Given the description of an element on the screen output the (x, y) to click on. 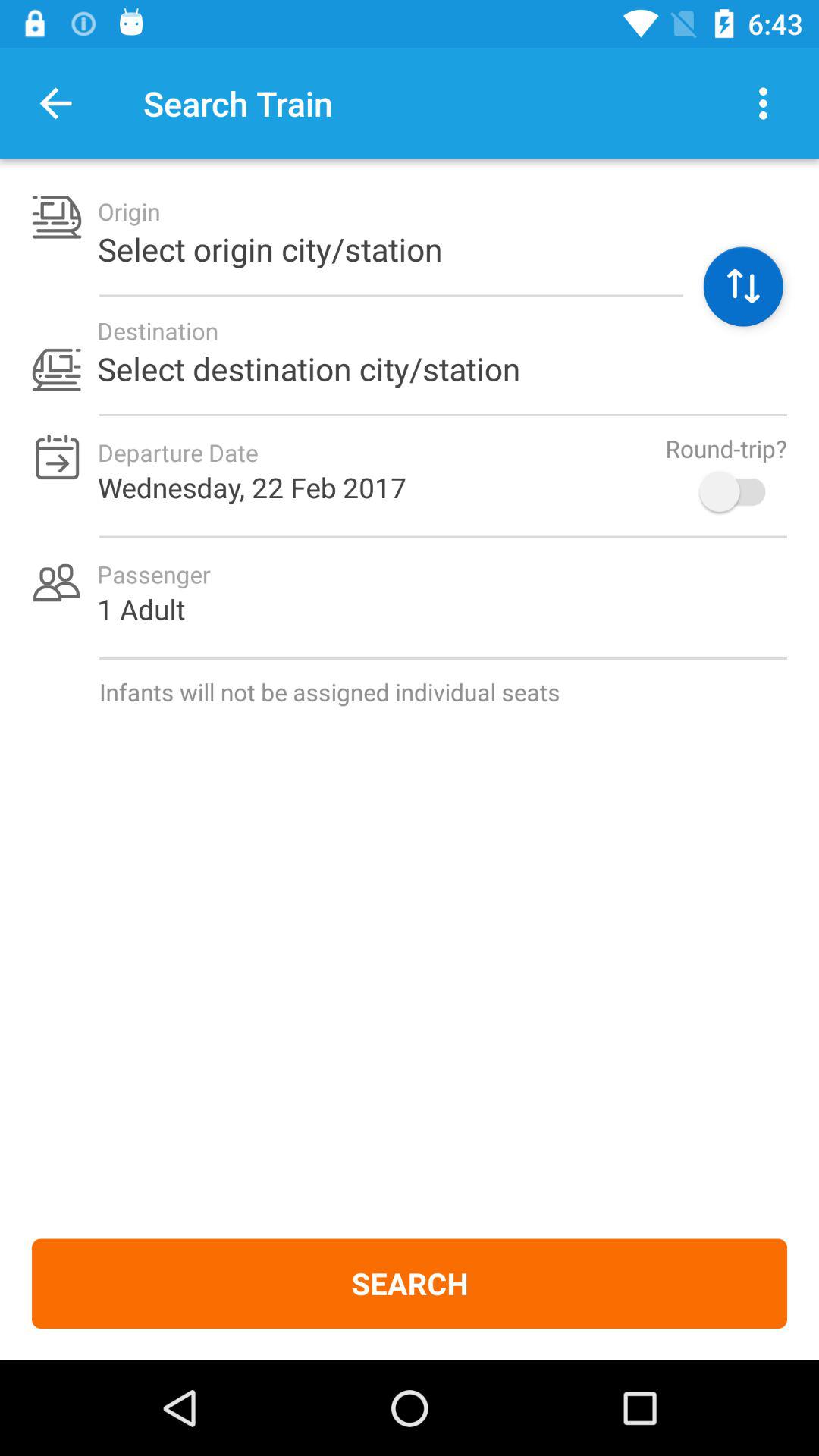
launch the icon on the right (739, 491)
